Given the description of an element on the screen output the (x, y) to click on. 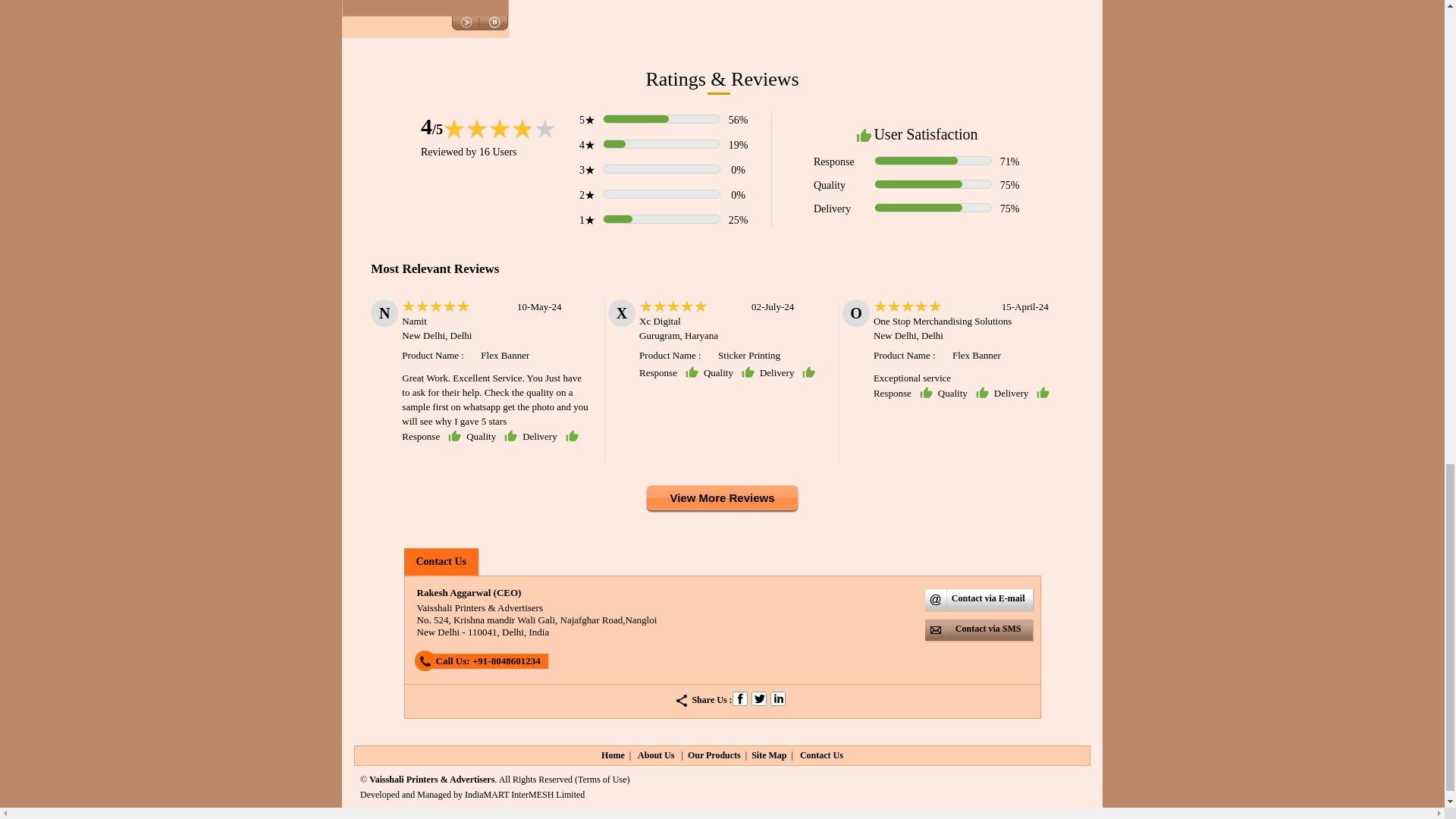
4 out of 5 Votes (431, 125)
